Given the description of an element on the screen output the (x, y) to click on. 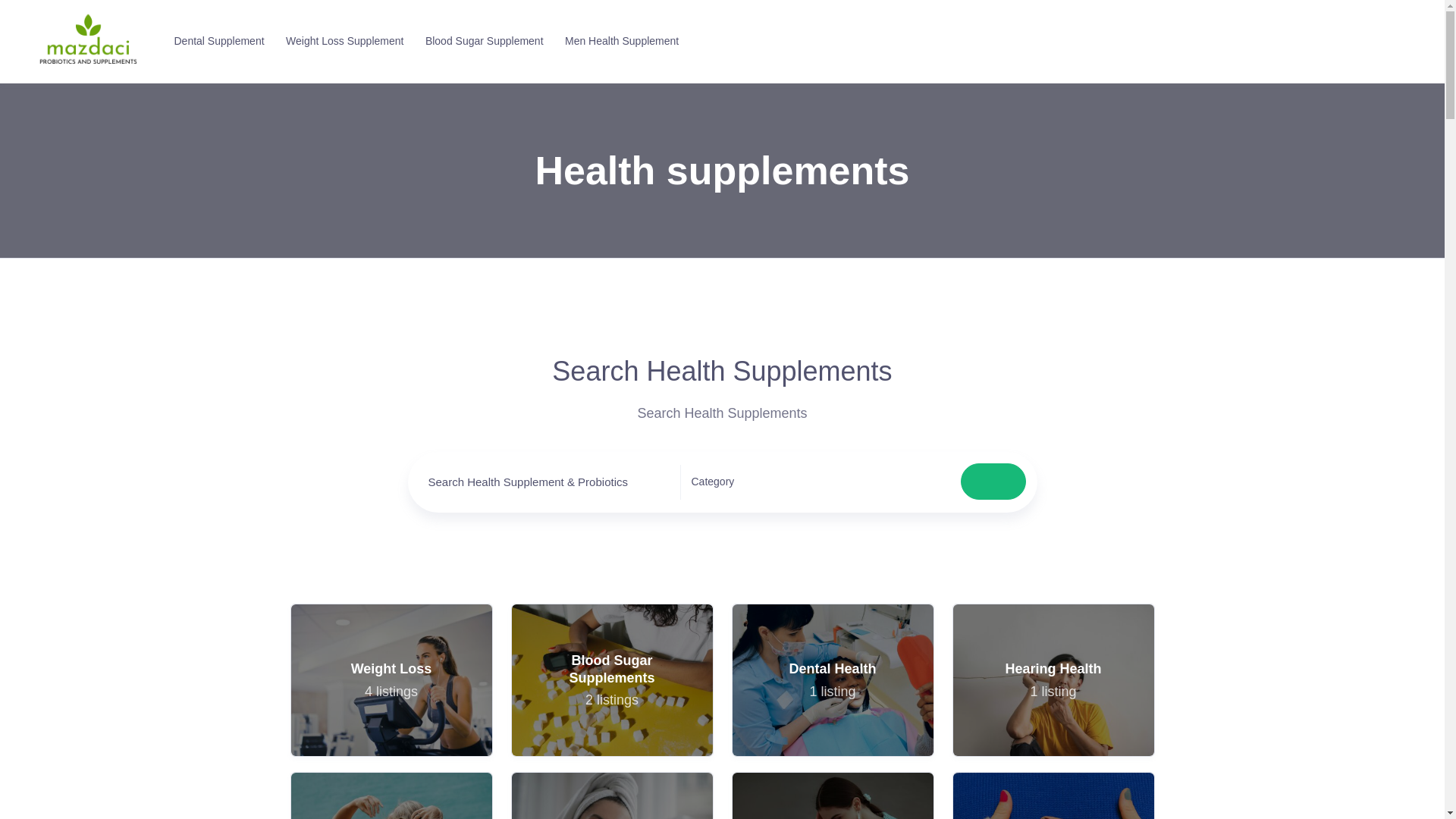
Skin Care (611, 795)
Brain Health (1053, 795)
Nail Care (390, 679)
Dental Supplement (612, 795)
Dental Health (832, 795)
Blood Sugar Supplements (1052, 795)
Hair Care (215, 41)
Blood Sugar Supplement (832, 679)
Men Health Supplement (831, 679)
